Given the description of an element on the screen output the (x, y) to click on. 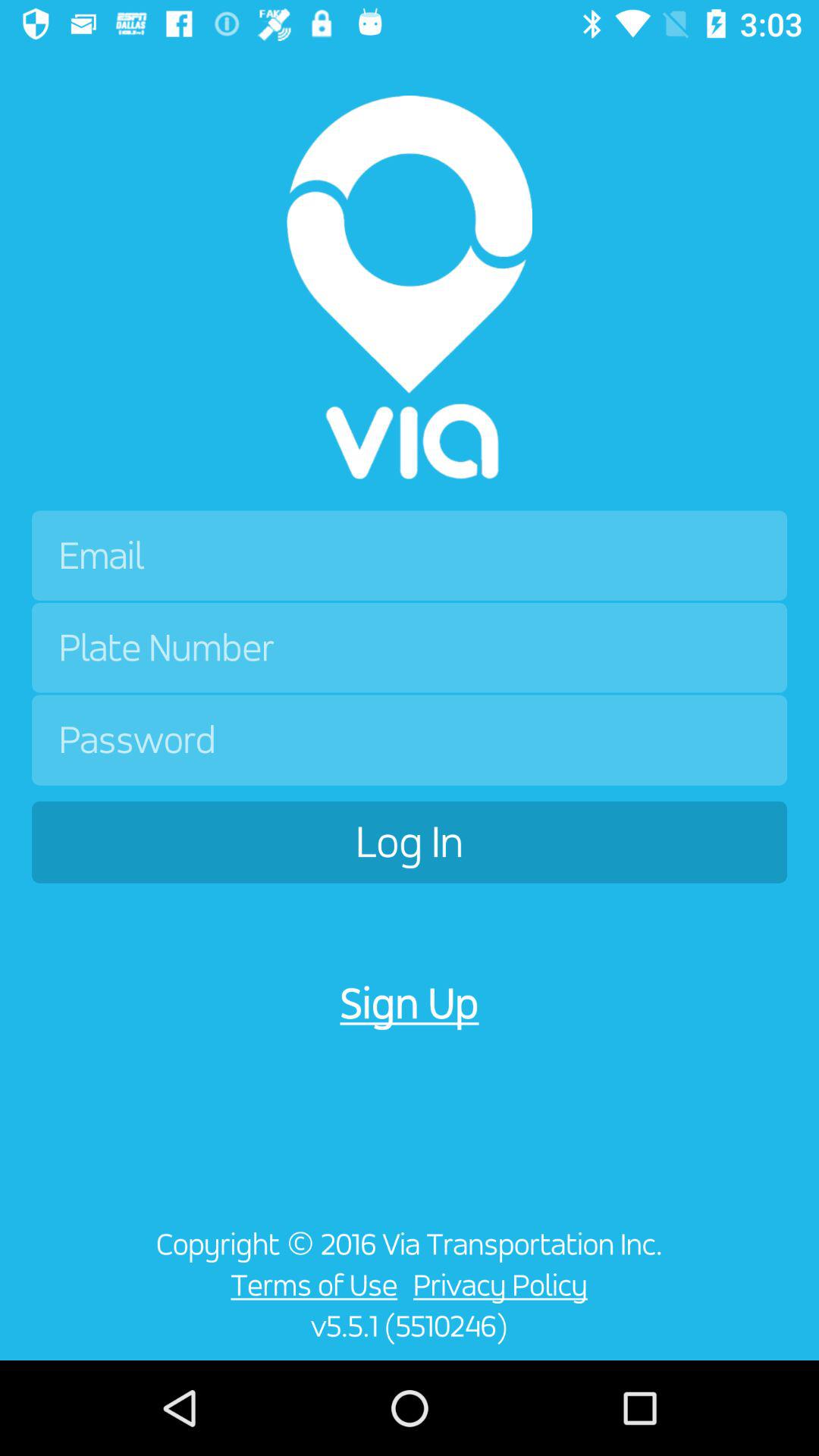
choose icon next to the privacy policy item (309, 1284)
